Given the description of an element on the screen output the (x, y) to click on. 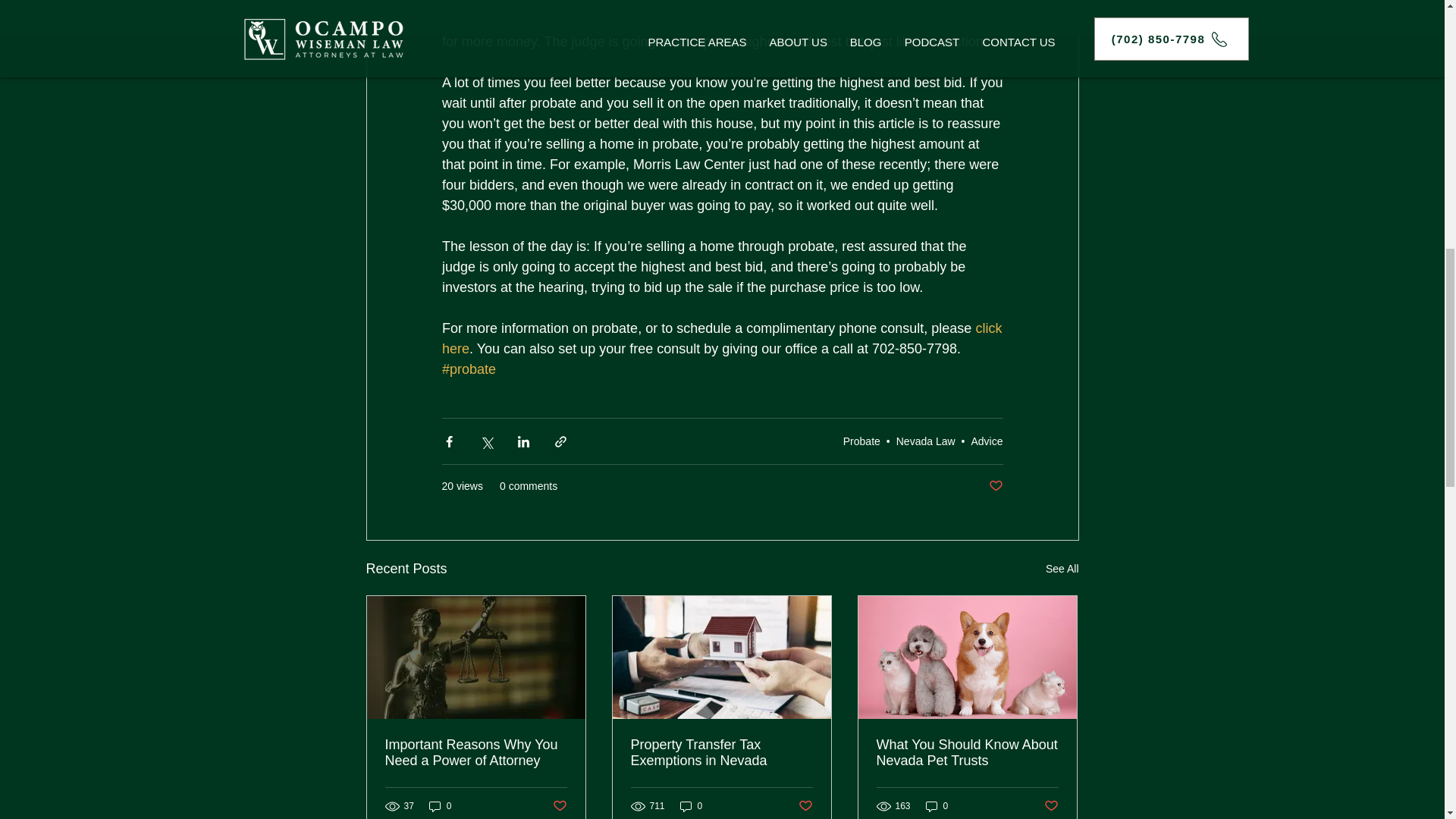
Nevada Law (925, 440)
click here (722, 338)
Advice (987, 440)
Post not marked as liked (995, 486)
Probate (861, 440)
